Given the description of an element on the screen output the (x, y) to click on. 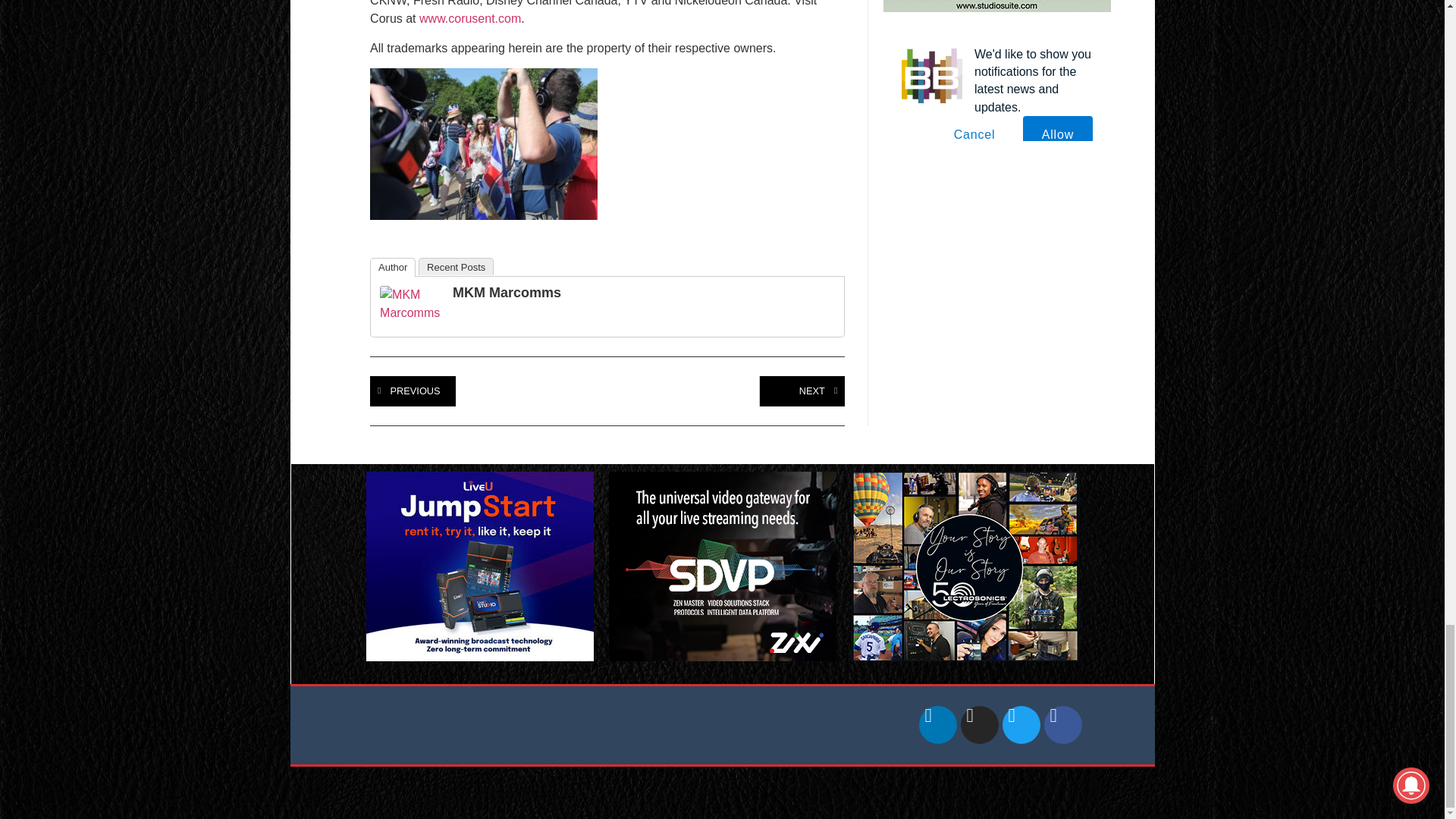
MKM Marcomms (410, 312)
